Given the description of an element on the screen output the (x, y) to click on. 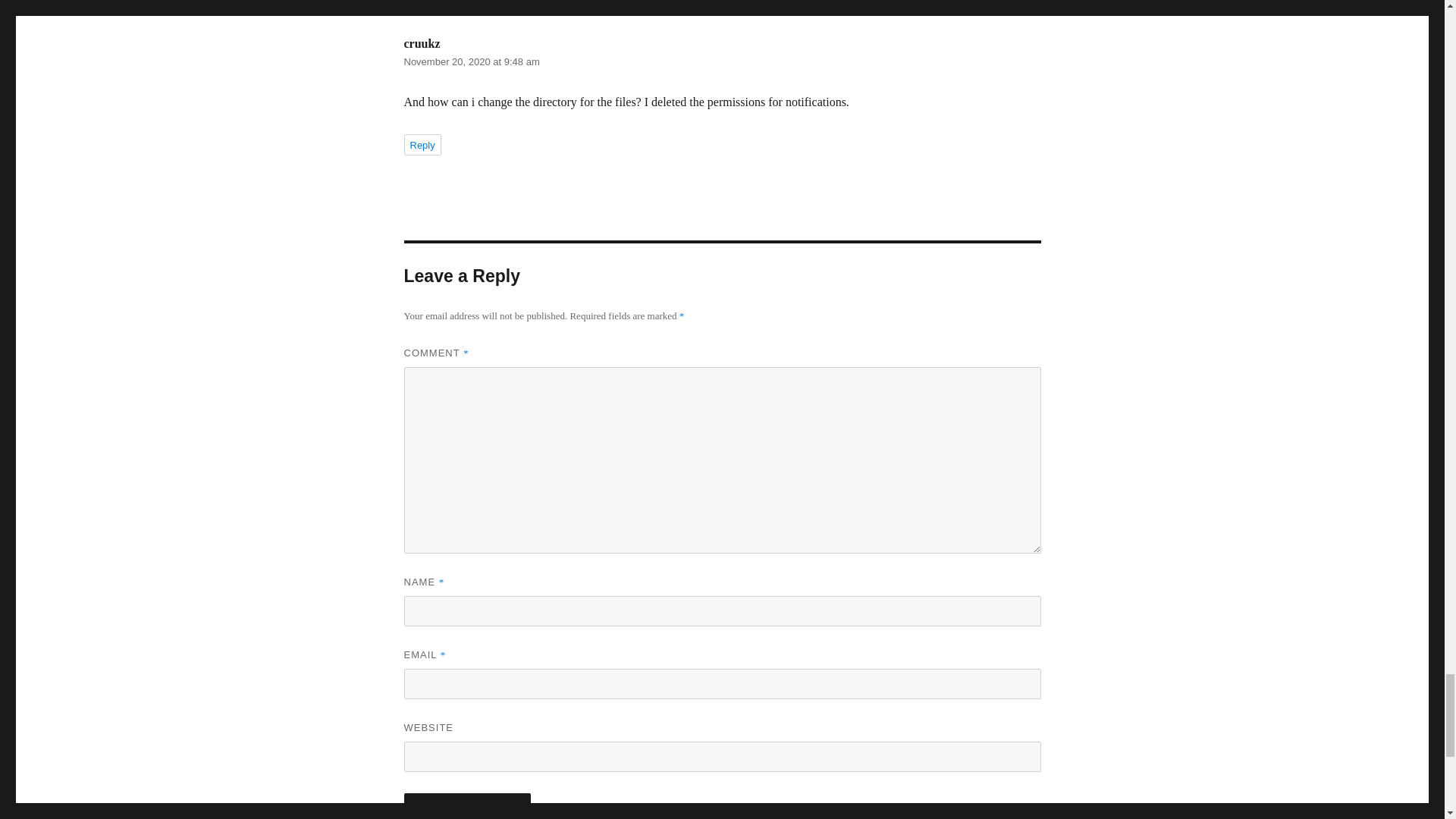
Post Comment (467, 806)
